Given the description of an element on the screen output the (x, y) to click on. 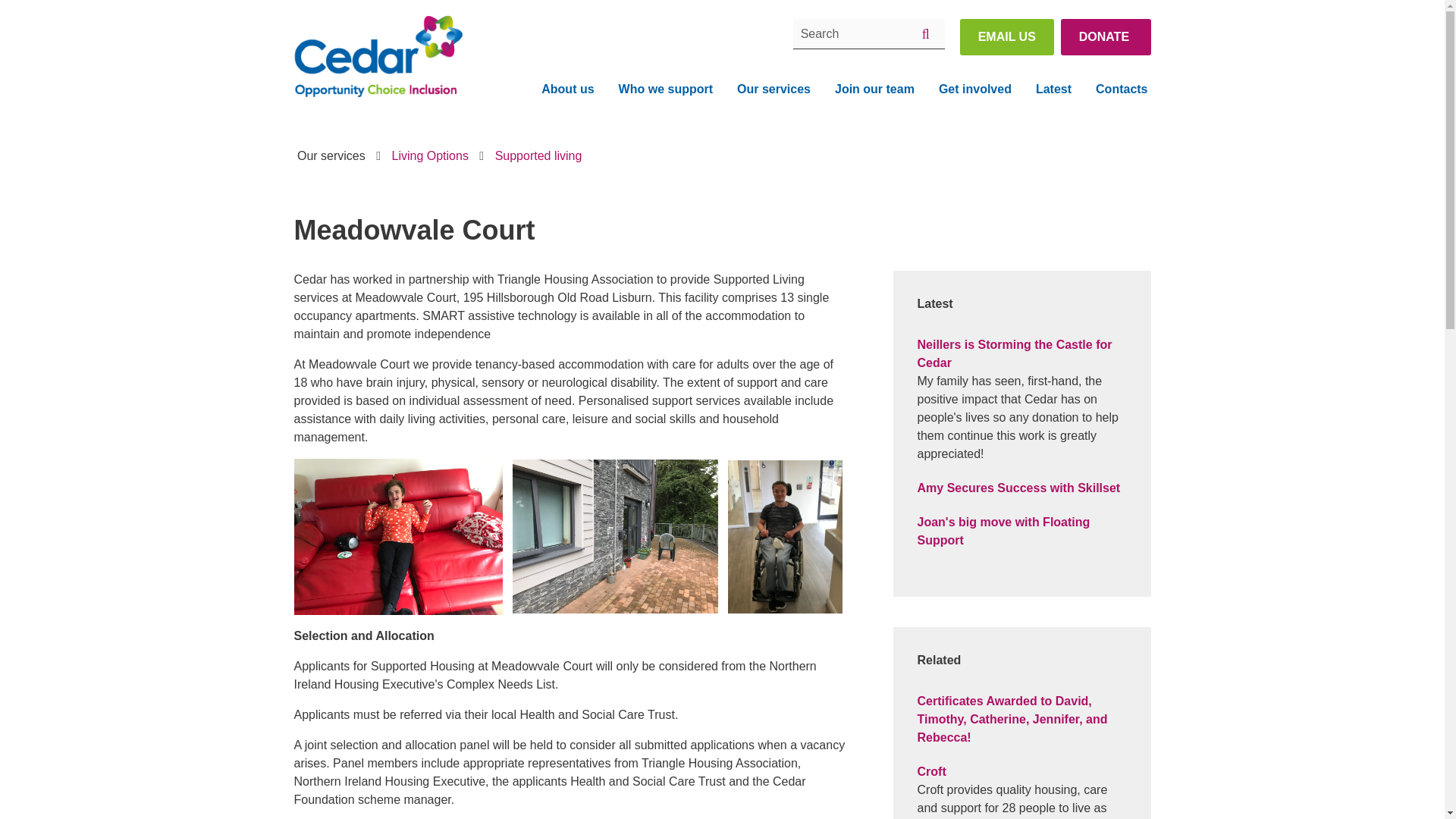
Join our team drop down menu (874, 89)
Our services (773, 89)
Who we support (666, 89)
Search (868, 33)
Latest drop down menu (1053, 89)
About us (567, 89)
The Cedar Foundation (378, 58)
About us drop down menu (567, 89)
Get involved drop down menu (974, 89)
EMAIL US (1006, 36)
